Given the description of an element on the screen output the (x, y) to click on. 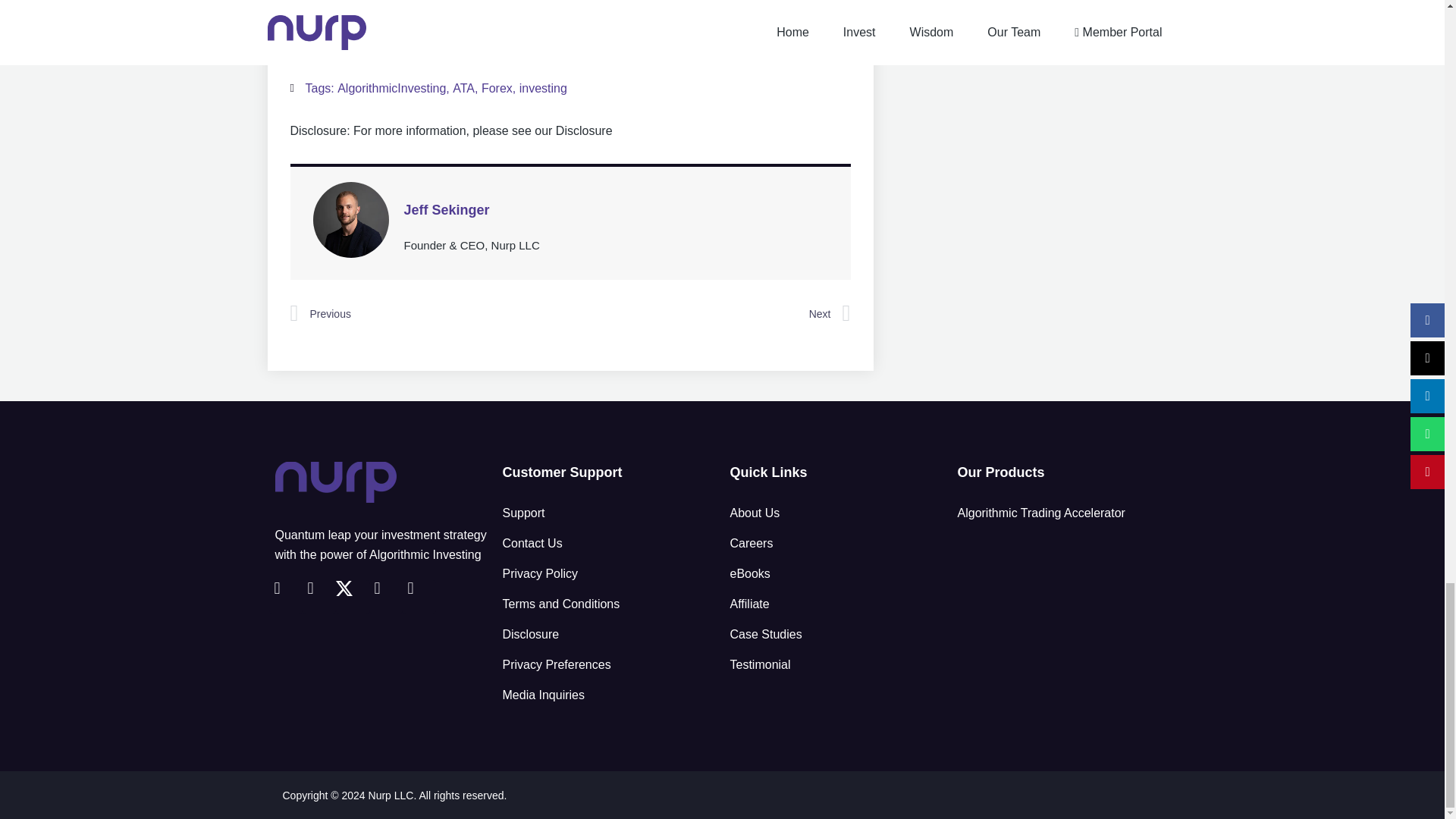
Jeff Sekinger (615, 209)
ATA (463, 88)
Forex (496, 88)
investing (543, 88)
Previous (429, 313)
AlgorithmicInvesting (391, 88)
Next (710, 313)
